Given the description of an element on the screen output the (x, y) to click on. 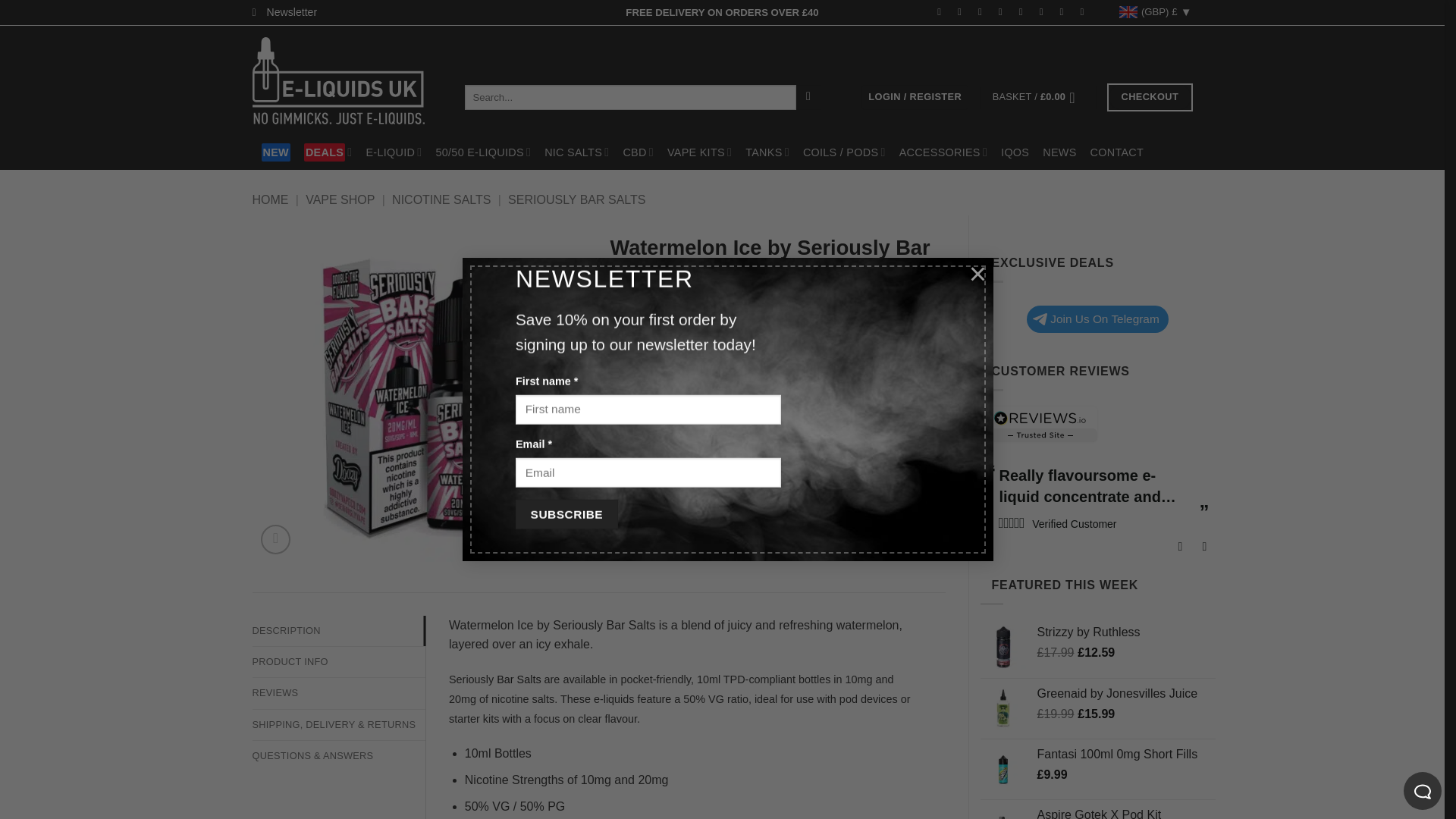
Search (808, 97)
E-LIQUID (393, 152)
Subscribe (566, 514)
NEW (274, 151)
E-Liquids UK - The UK's Leading Online Vape Shop (346, 80)
5 Stars (1011, 522)
Follow on Telegram (1084, 11)
CHECKOUT (1149, 97)
Follow on Pinterest (1024, 11)
Follow on Threads (1003, 11)
Follow on YouTube (1064, 11)
Subscribe (566, 514)
Follow on LinkedIn (1044, 11)
Follow on Instagram (963, 11)
Basket (1038, 96)
